Given the description of an element on the screen output the (x, y) to click on. 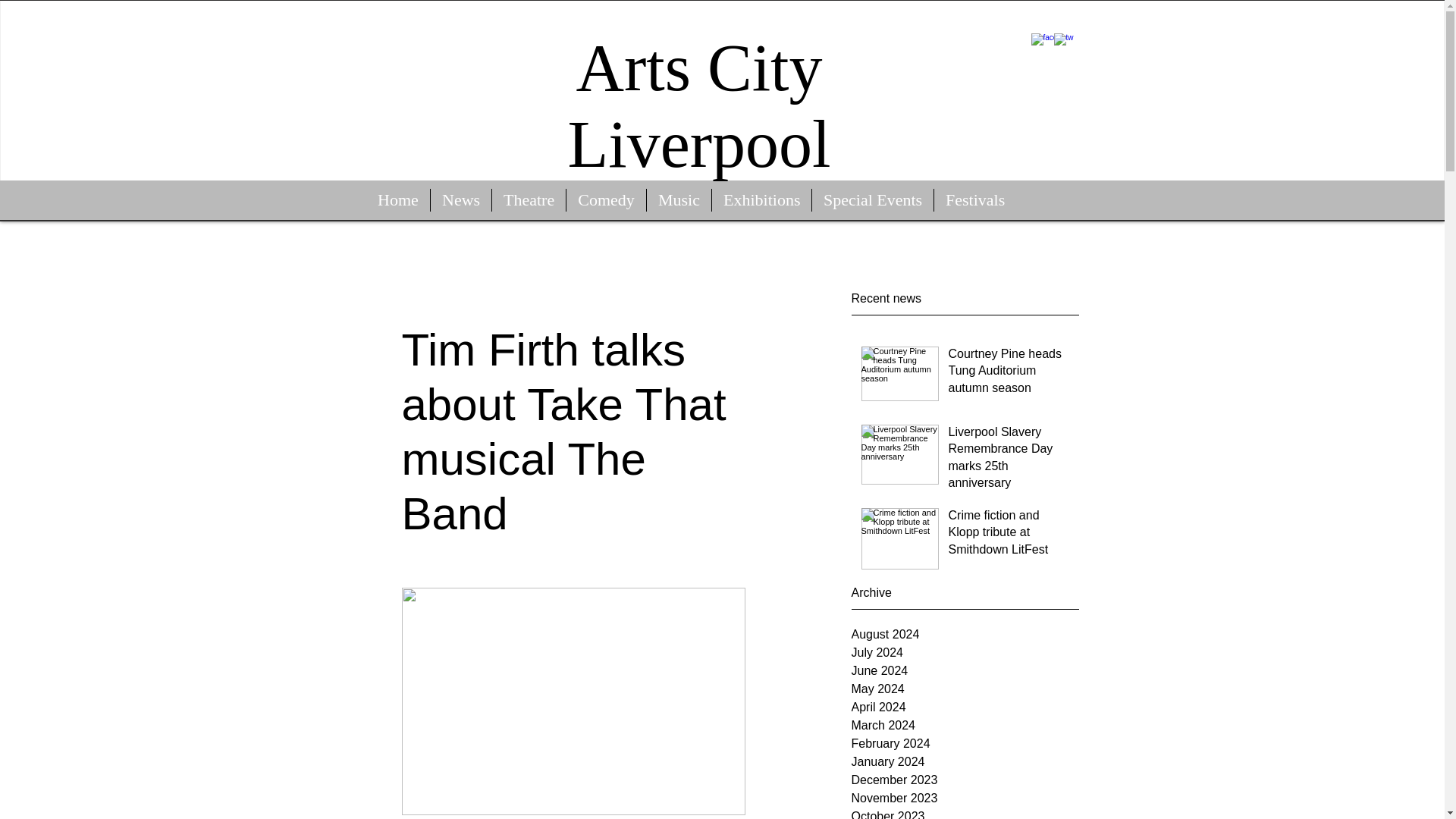
Exhibitions (760, 200)
News (461, 200)
November 2023 (964, 798)
December 2023 (964, 780)
Festivals (975, 200)
Theatre (529, 200)
Crime fiction and Klopp tribute at Smithdown LitFest (1007, 535)
Courtney Pine heads Tung Auditorium autumn season (1007, 373)
Liverpool Slavery Remembrance Day marks 25th anniversary (1007, 460)
July 2024 (964, 652)
